Given the description of an element on the screen output the (x, y) to click on. 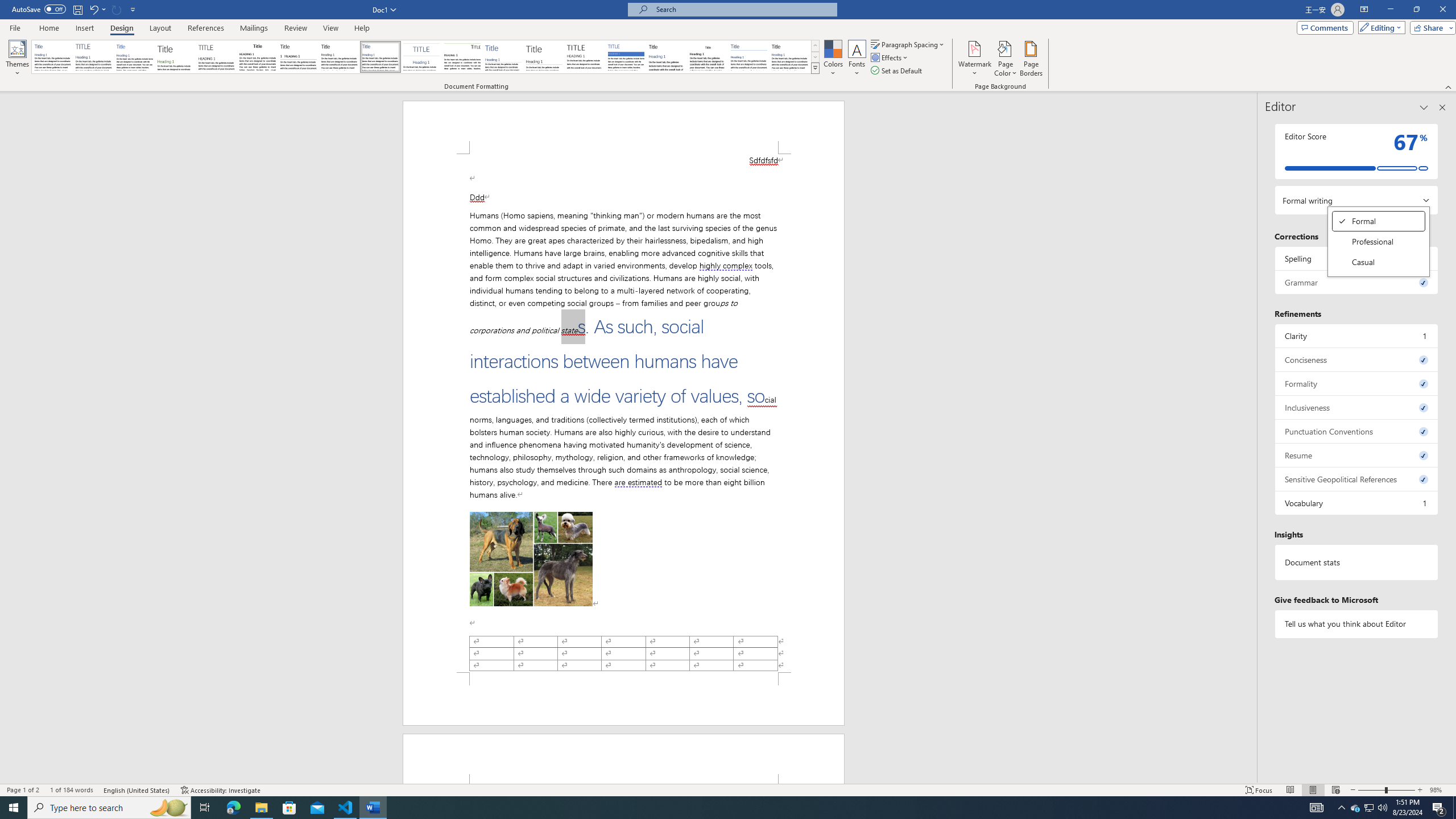
Morphological variation in six dogs (531, 558)
Formality, 0 issues. Press space or enter to review items. (1356, 383)
Colors (832, 58)
Centered (421, 56)
Editor Score 67% (1356, 151)
Set as Default (897, 69)
Lines (Stylish) (544, 56)
